Given the description of an element on the screen output the (x, y) to click on. 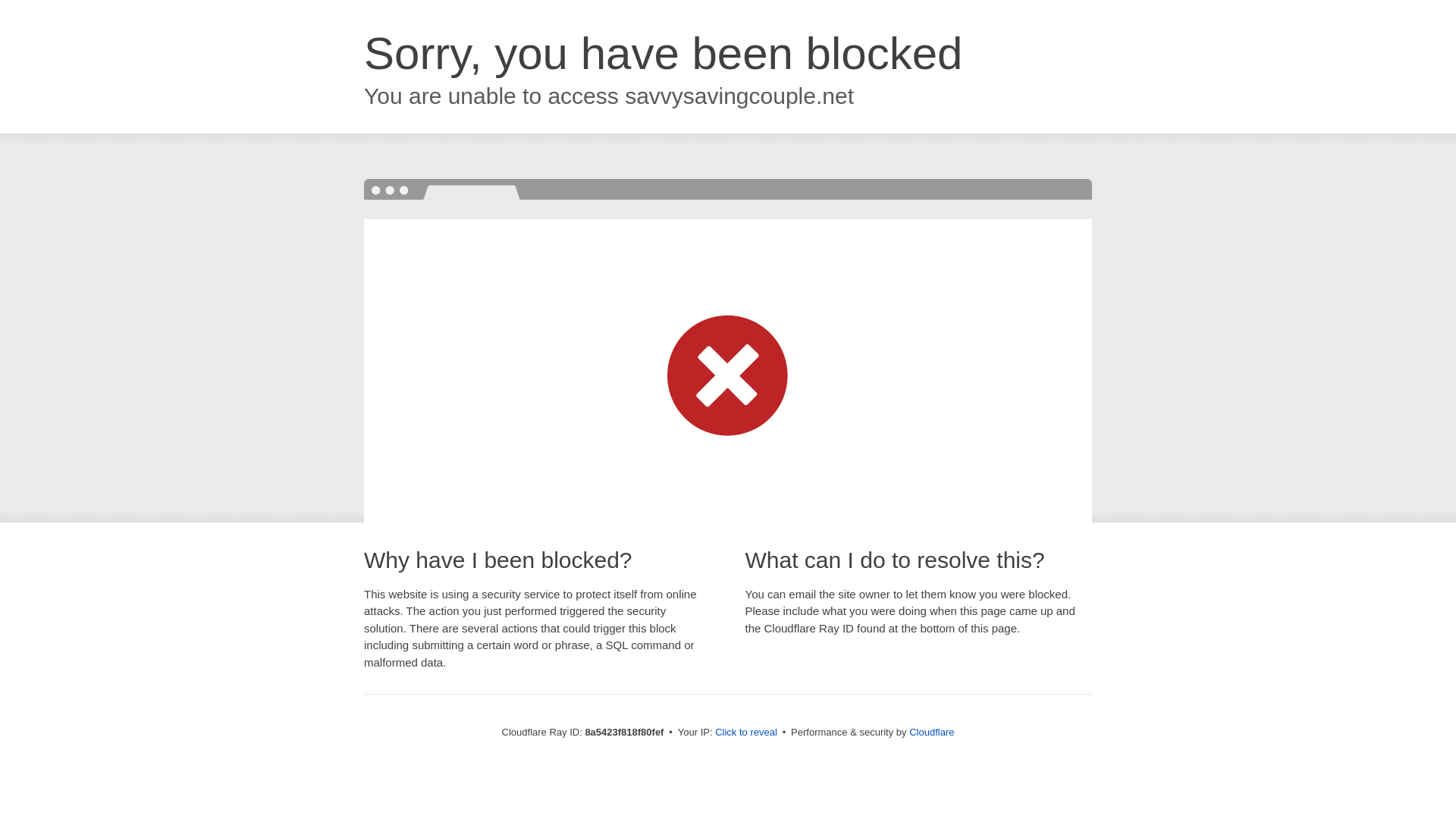
Click to reveal (745, 732)
Cloudflare (930, 731)
